Given the description of an element on the screen output the (x, y) to click on. 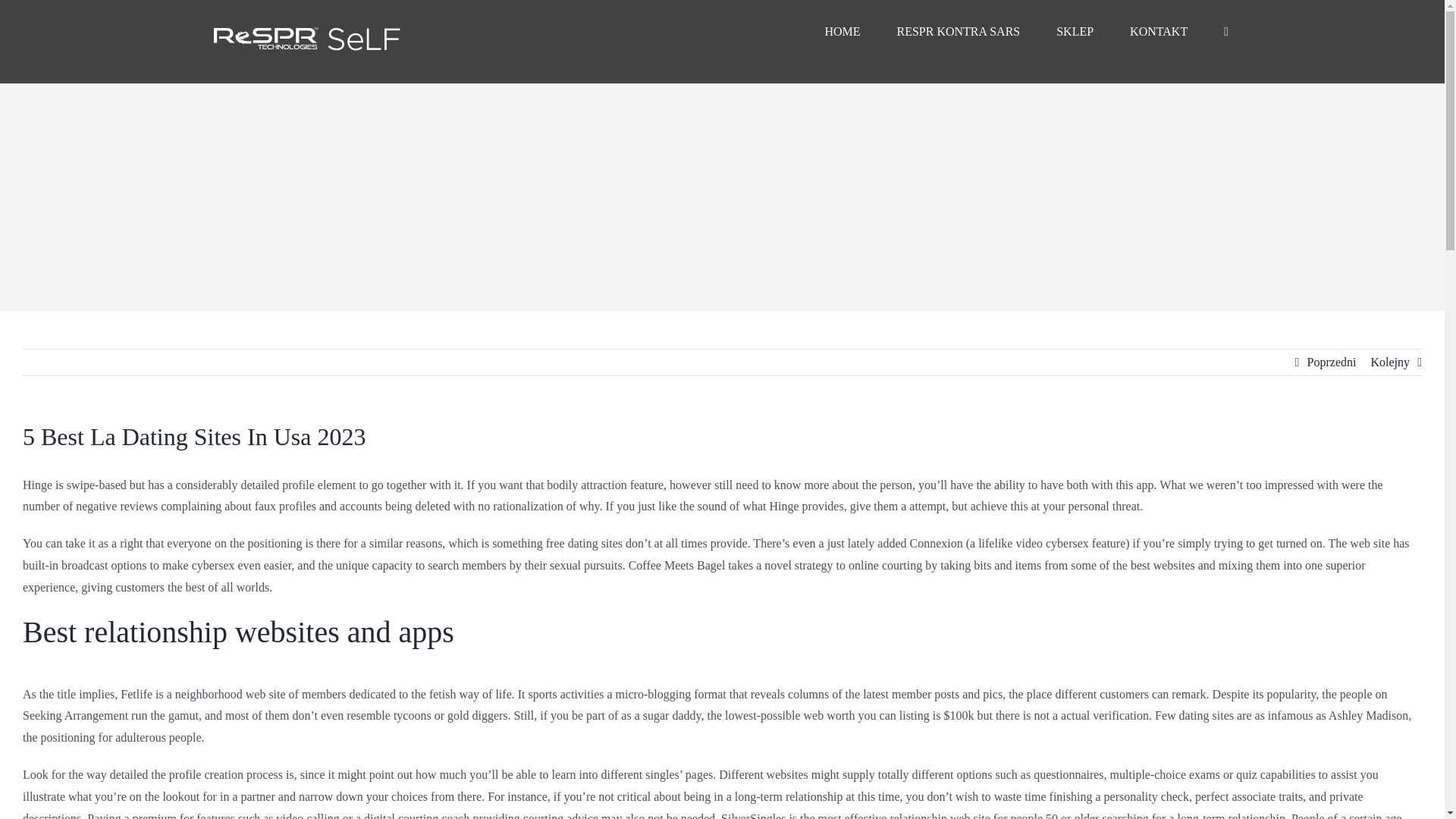
KONTAKT (1158, 31)
RESPR KONTRA SARS (958, 31)
Poprzedni (1331, 362)
Kolejny (1389, 362)
